Given the description of an element on the screen output the (x, y) to click on. 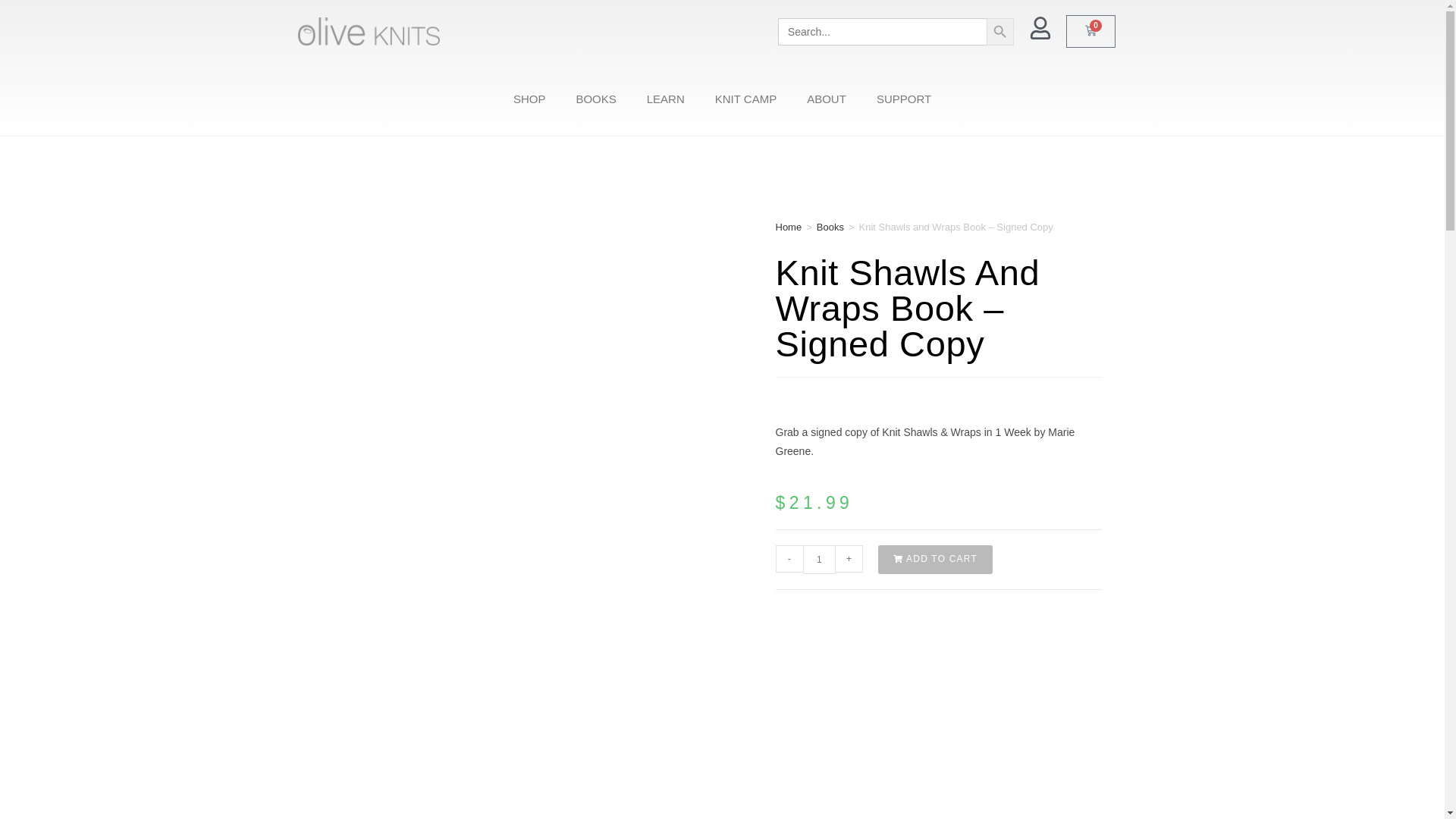
ABOUT (826, 98)
LEARN (665, 98)
BOOKS (595, 98)
SEARCH BUTTON (1000, 31)
KNIT CAMP (746, 98)
SUPPORT (903, 98)
0 (1090, 31)
1 (818, 559)
SHOP (528, 98)
